Given the description of an element on the screen output the (x, y) to click on. 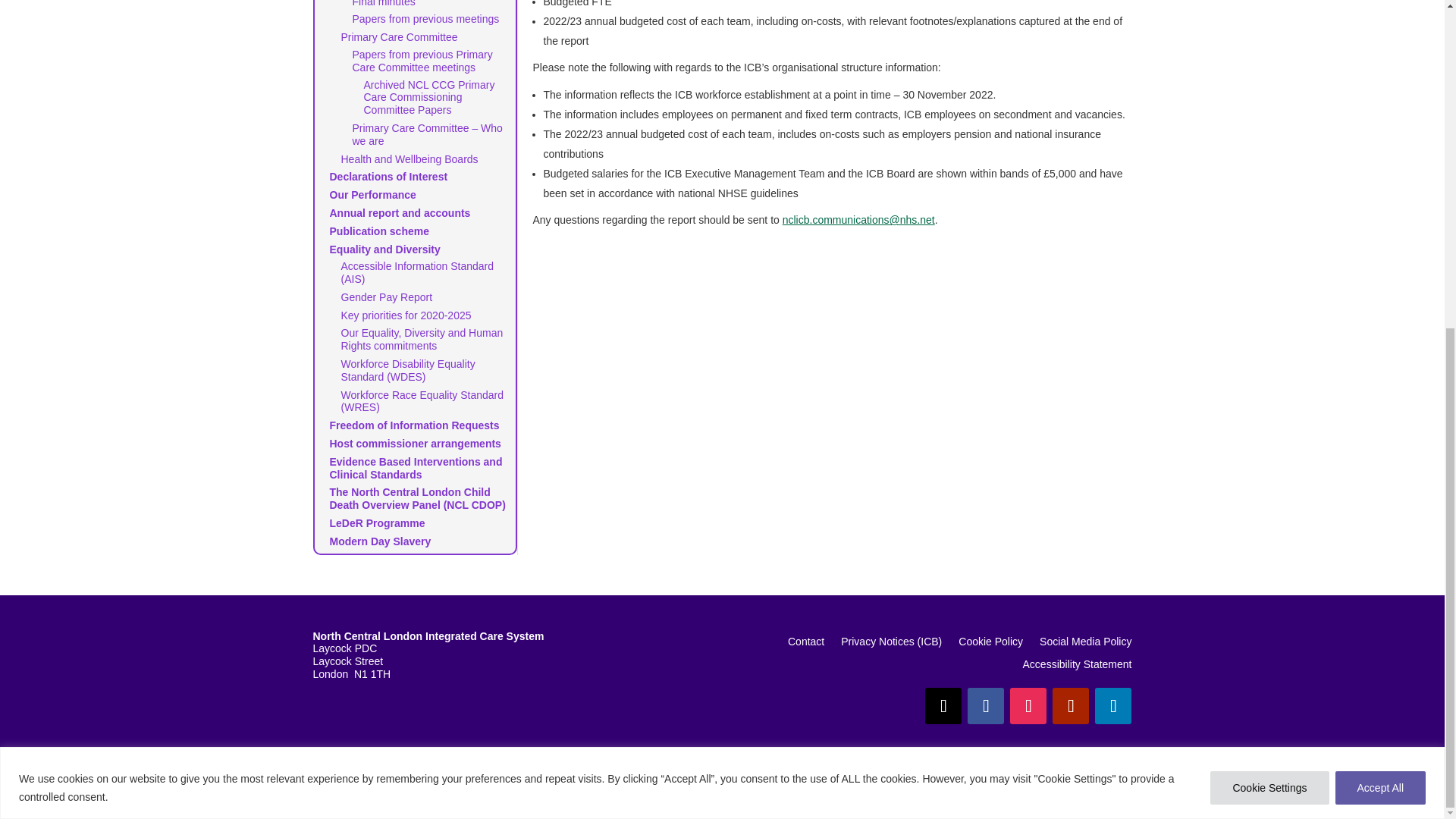
Cookie Settings (1268, 244)
Accept All (1380, 244)
